Given the description of an element on the screen output the (x, y) to click on. 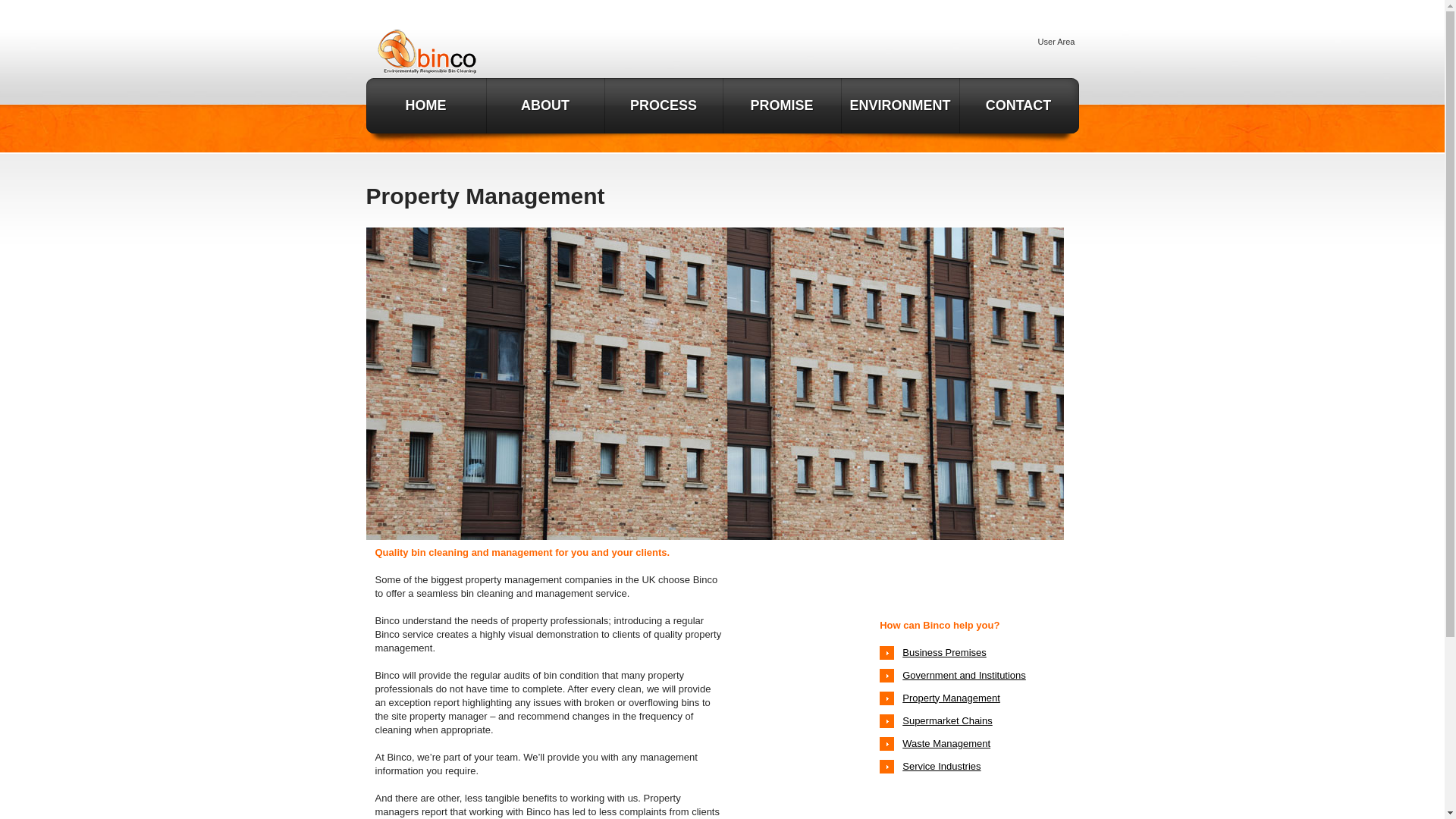
Property Management (951, 696)
Government and Institutions (964, 674)
ENVIRONMENT (900, 105)
PROMISE (782, 105)
Government and Institutions (964, 674)
Service Industries (940, 766)
Business Premises (944, 651)
Supermarkets (947, 720)
Supermarket Chains (947, 720)
Business premises (944, 651)
User Area (1055, 41)
Service Industries (940, 766)
Waste Management (946, 743)
HOME (424, 105)
Waste Management (946, 743)
